Given the description of an element on the screen output the (x, y) to click on. 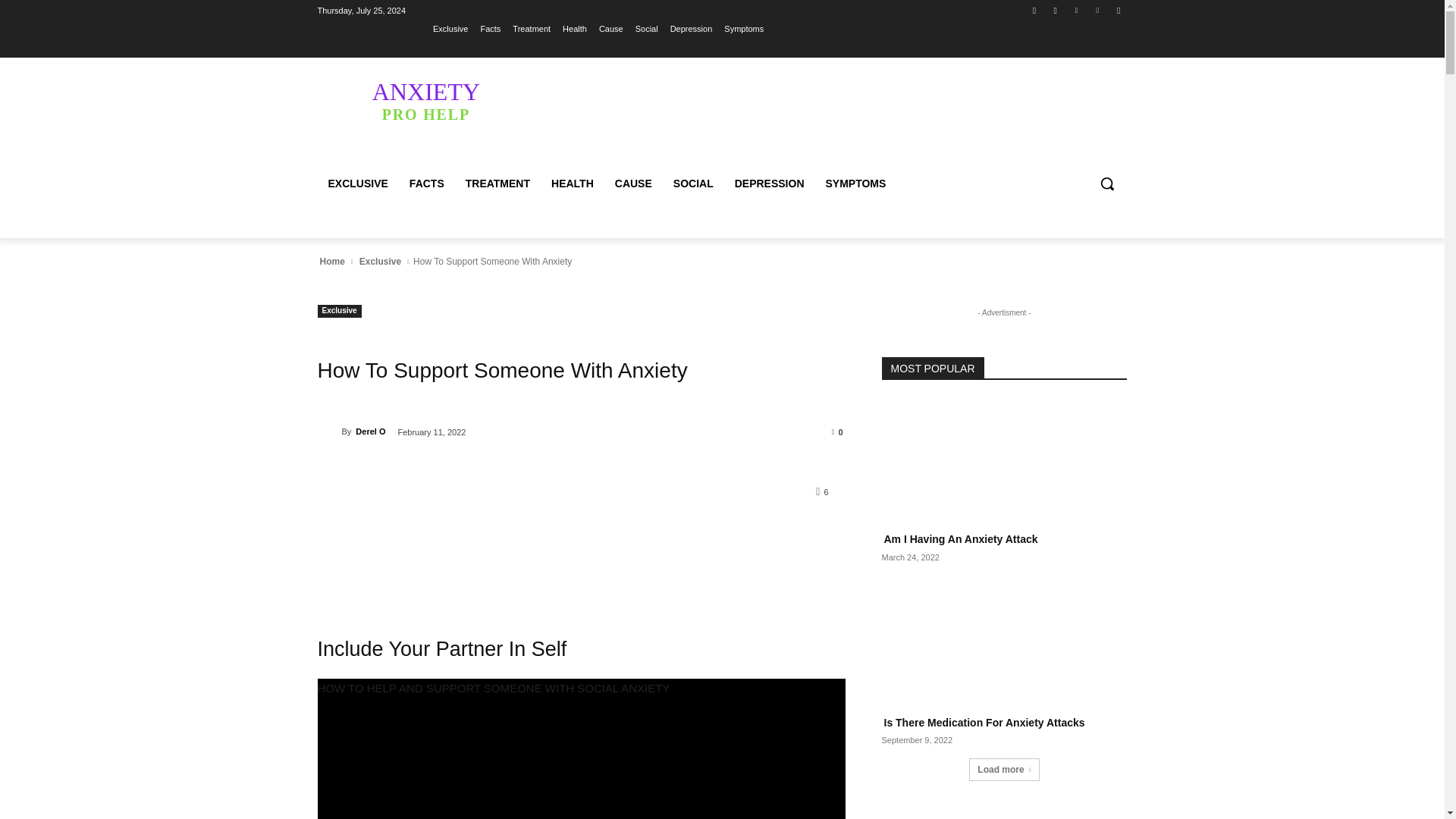
SYMPTOMS (854, 183)
Facebook (1034, 9)
Derel O (328, 431)
EXCLUSIVE (357, 183)
Youtube (1117, 9)
SOCIAL (692, 183)
Social (646, 28)
TREATMENT (497, 183)
Instagram (1055, 9)
Cause (610, 28)
Twitter (1075, 9)
FACTS (426, 183)
HEALTH (572, 183)
Exclusive (449, 28)
Vimeo (1097, 9)
